Given the description of an element on the screen output the (x, y) to click on. 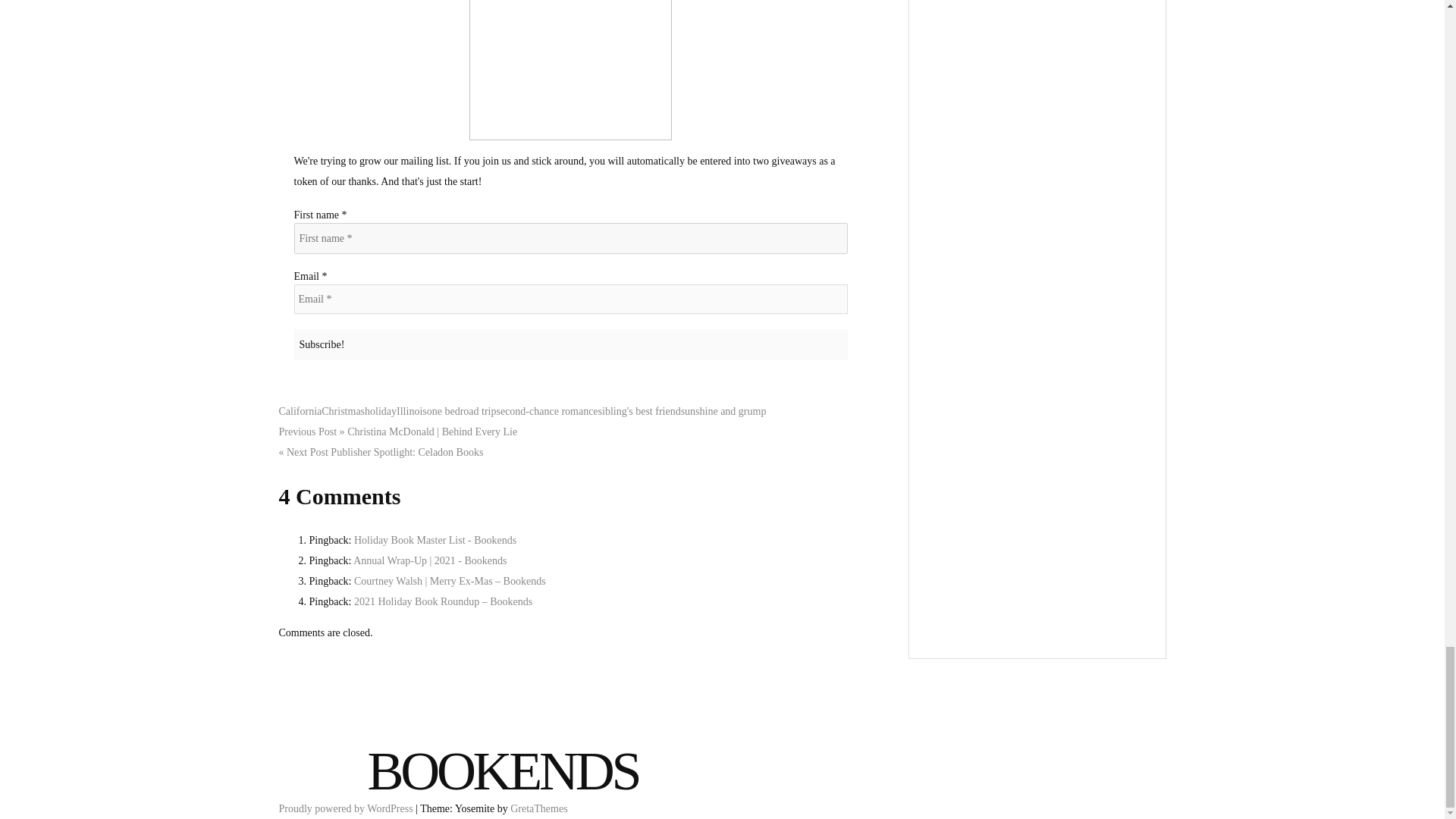
sibling's best friend (639, 410)
First name (570, 237)
Illinois (411, 410)
Christmas (343, 410)
road trip (478, 410)
Subscribe! (570, 344)
Subscribe! (570, 344)
Holiday Book Master List - Bookends (434, 540)
California (300, 410)
sunshine and grump (724, 410)
